Given the description of an element on the screen output the (x, y) to click on. 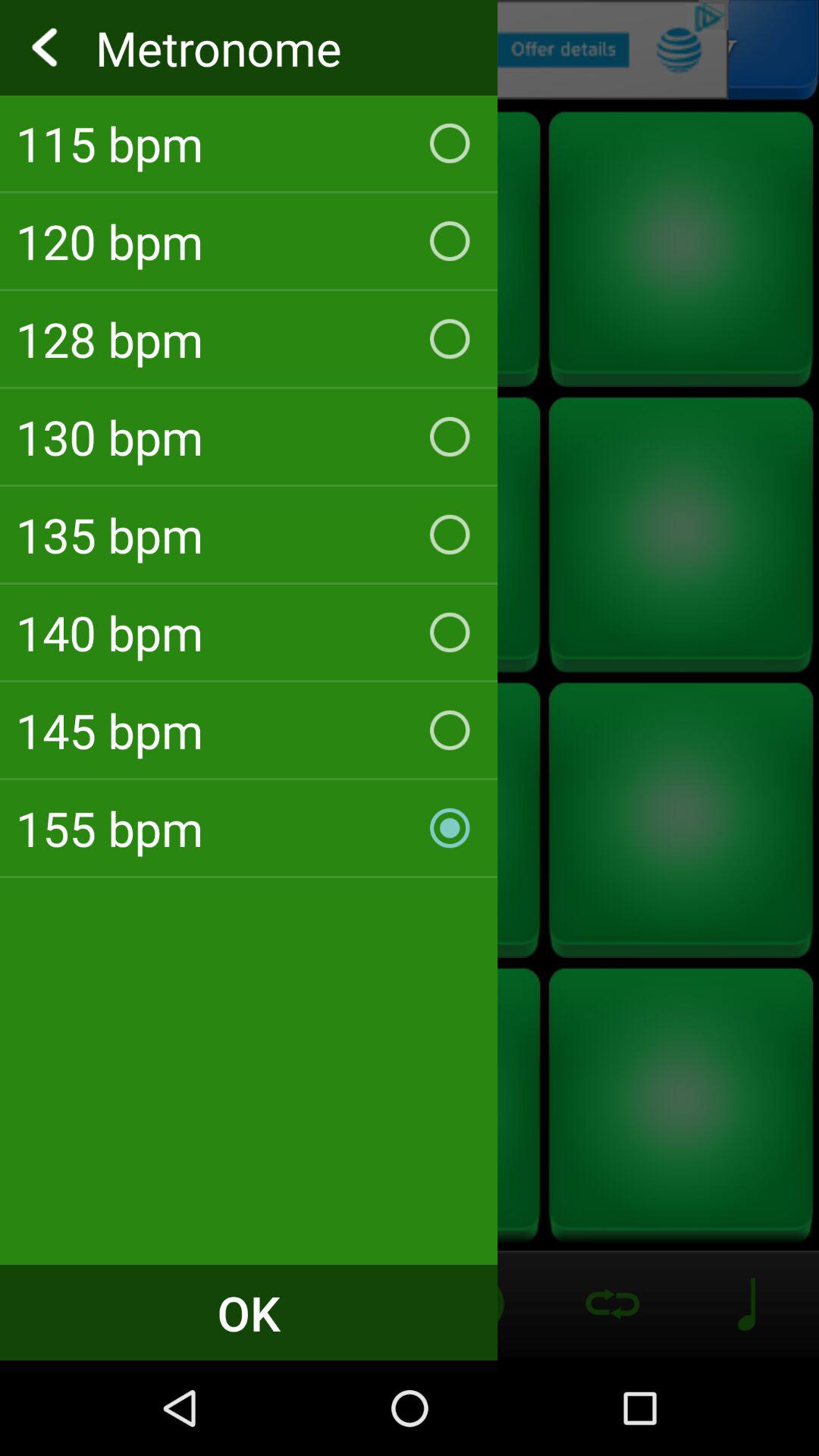
close metronome (409, 49)
